Given the description of an element on the screen output the (x, y) to click on. 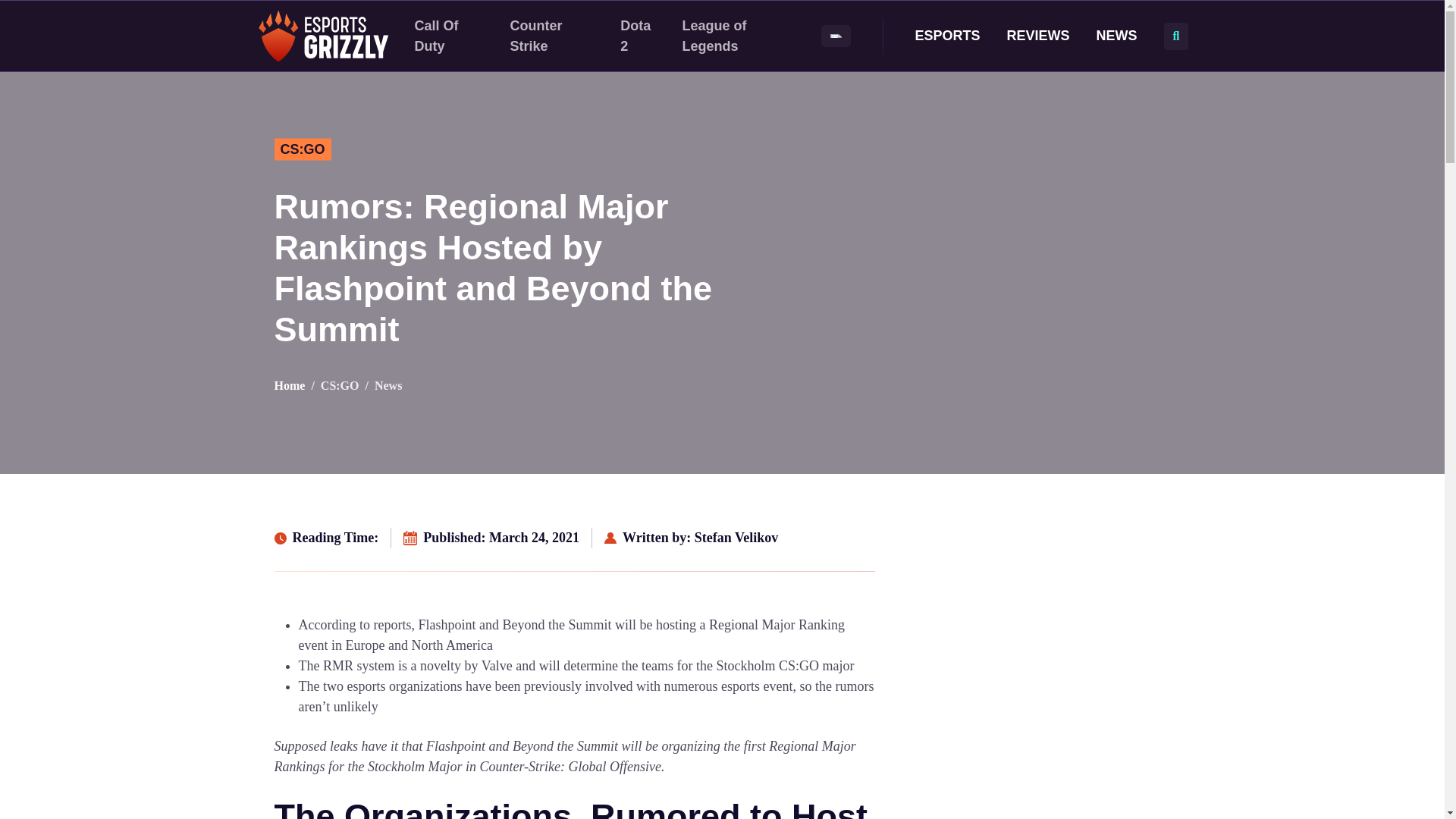
NEWS (1116, 35)
Skip to content (9, 4)
Call Of Duty (435, 36)
ESPORTS (947, 35)
REVIEWS (1038, 35)
